Given the description of an element on the screen output the (x, y) to click on. 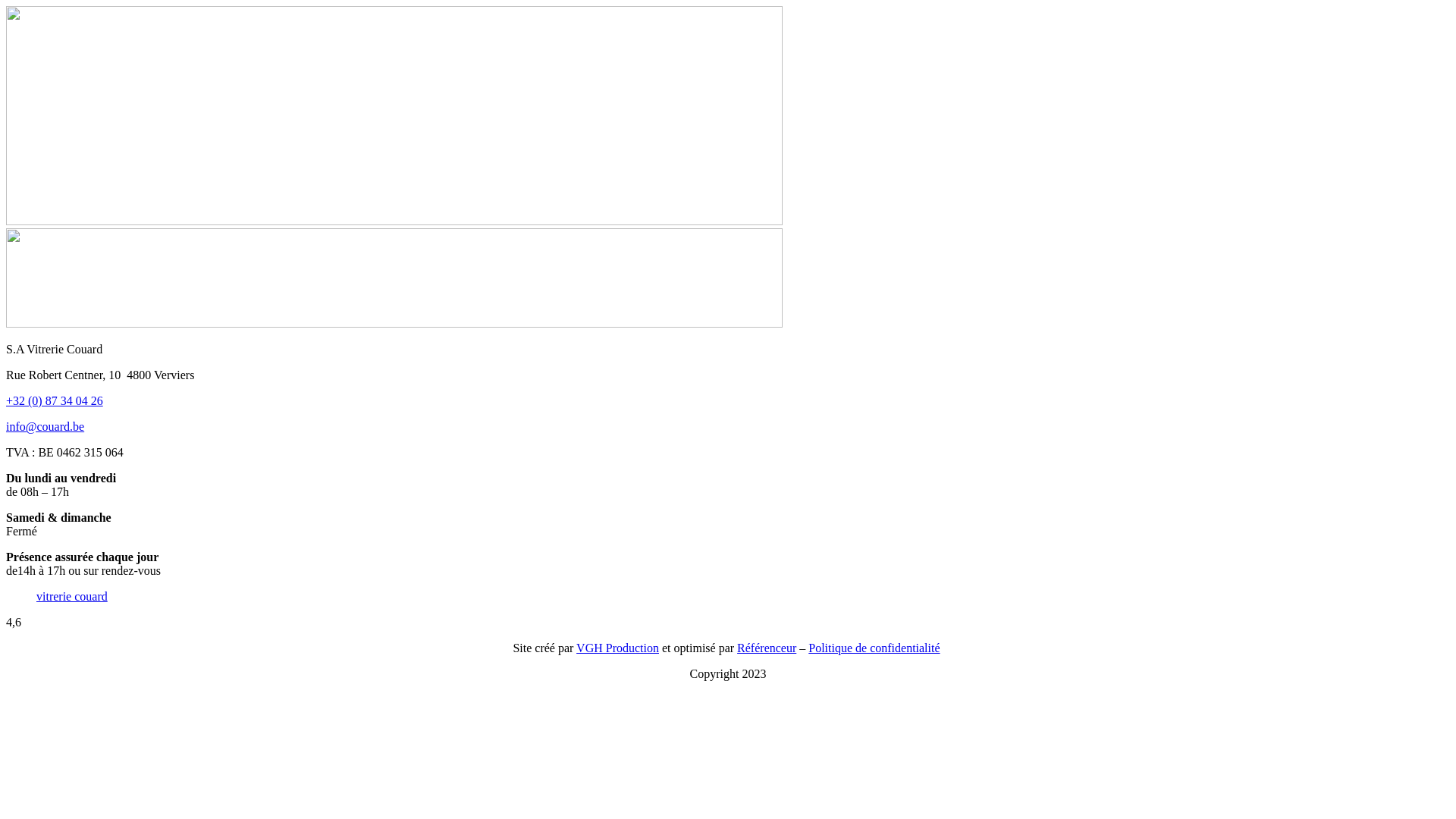
vitrerie couard Element type: text (71, 595)
info@couard.be Element type: text (45, 426)
+32 (0) 87 34 04 26 Element type: text (54, 400)
VGH Production Element type: text (617, 647)
